Given the description of an element on the screen output the (x, y) to click on. 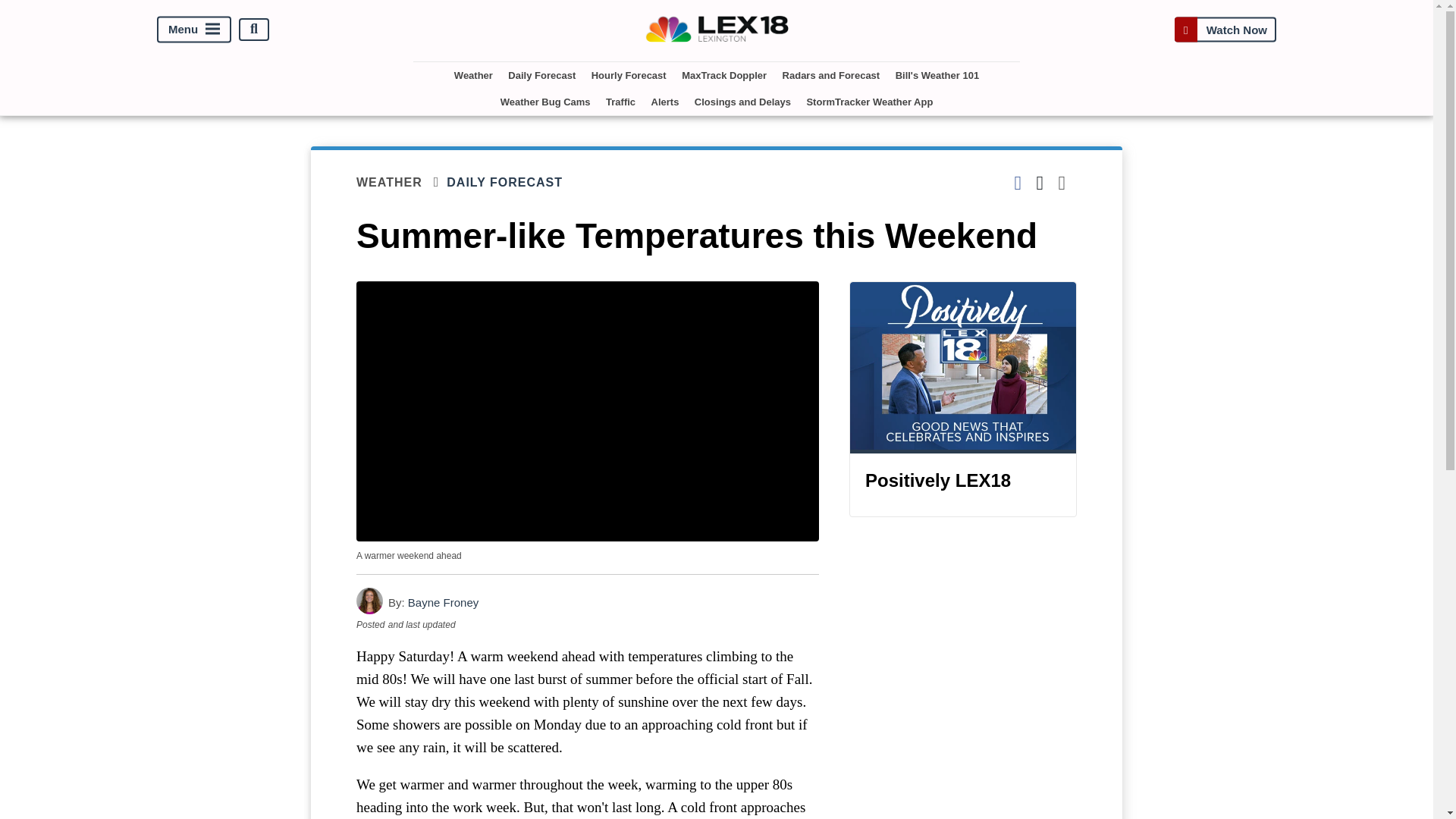
Menu (194, 28)
Watch Now (1224, 29)
